Given the description of an element on the screen output the (x, y) to click on. 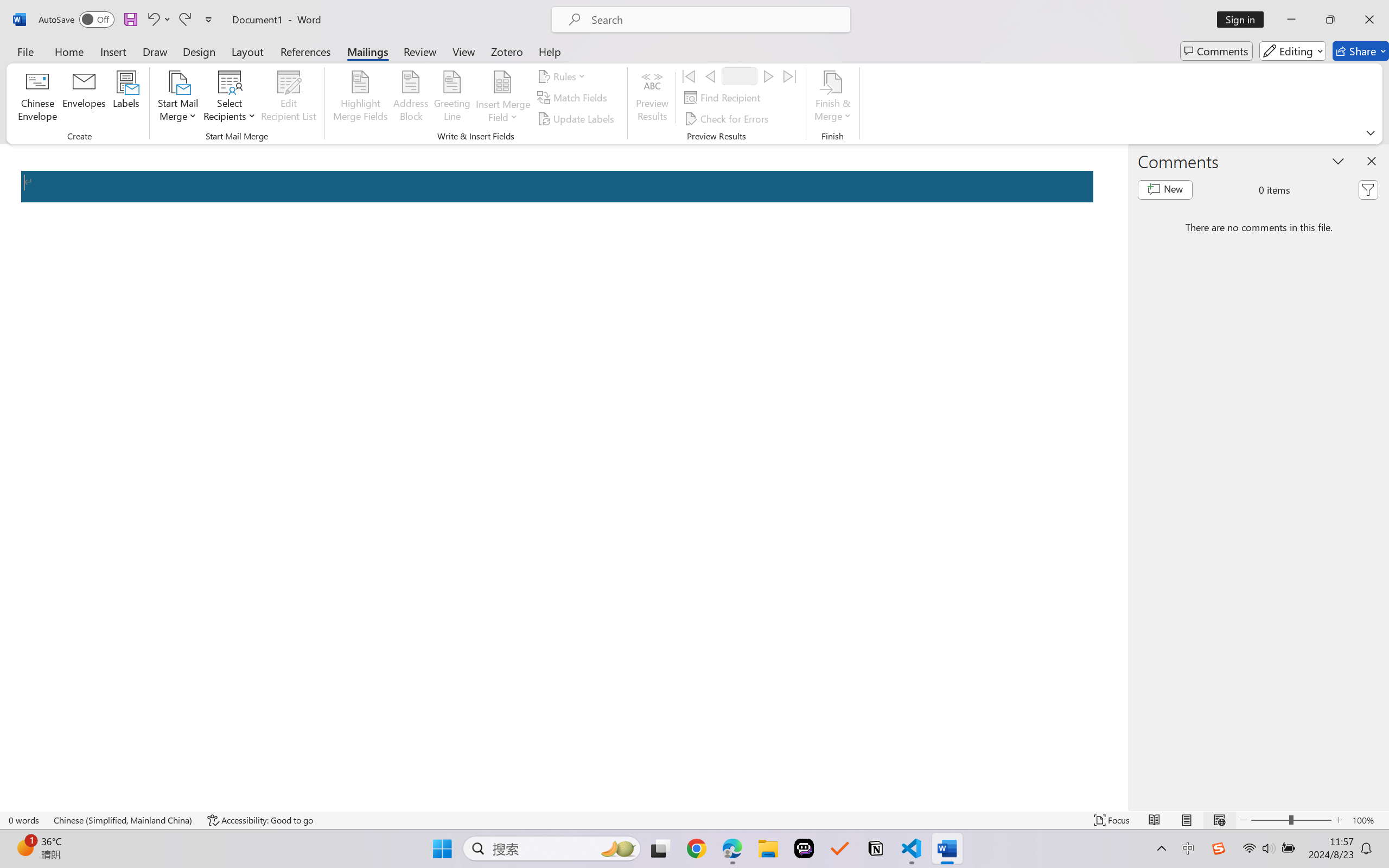
Edit Recipient List... (288, 97)
Start Mail Merge (177, 97)
Insert Merge Field (502, 97)
Preview Results (652, 97)
First (688, 75)
Labels... (126, 97)
